Given the description of an element on the screen output the (x, y) to click on. 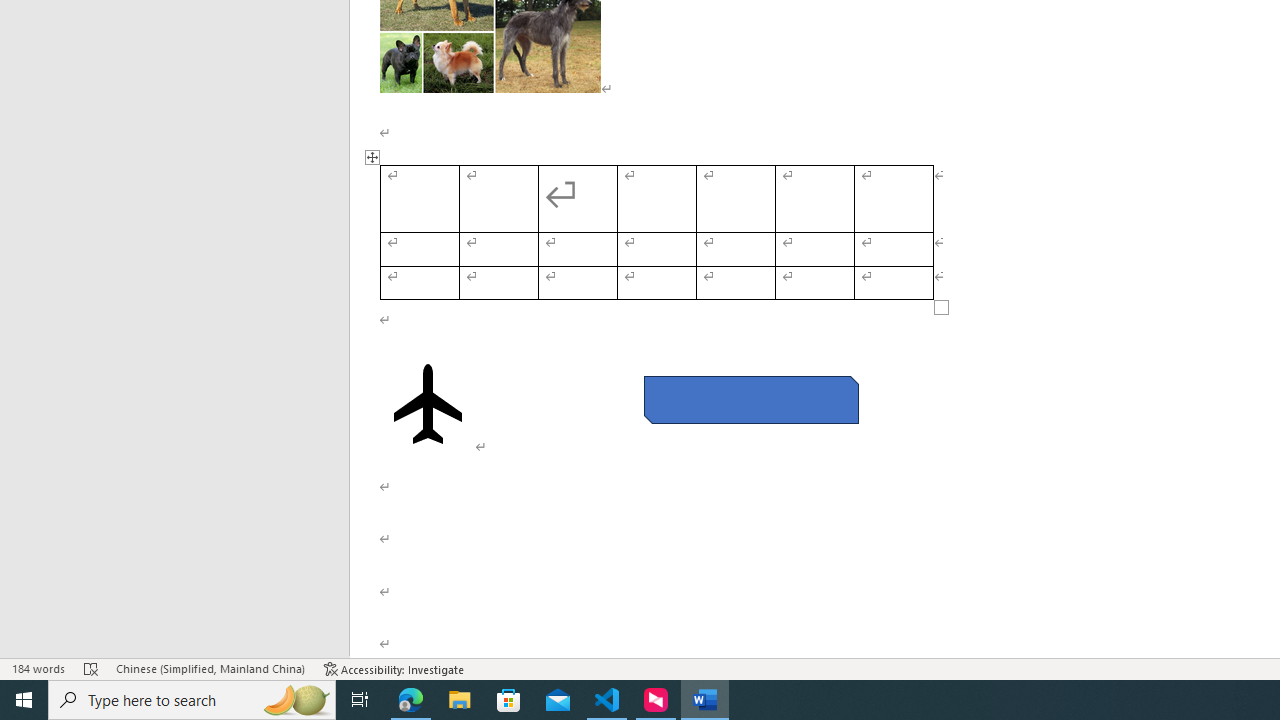
Word Count 184 words (37, 668)
Accessibility Checker Accessibility: Investigate (394, 668)
Airplane with solid fill (428, 403)
Language Chinese (Simplified, Mainland China) (210, 668)
Spelling and Grammar Check Errors (91, 668)
Rectangle: Diagonal Corners Snipped 2 (750, 399)
